Given the description of an element on the screen output the (x, y) to click on. 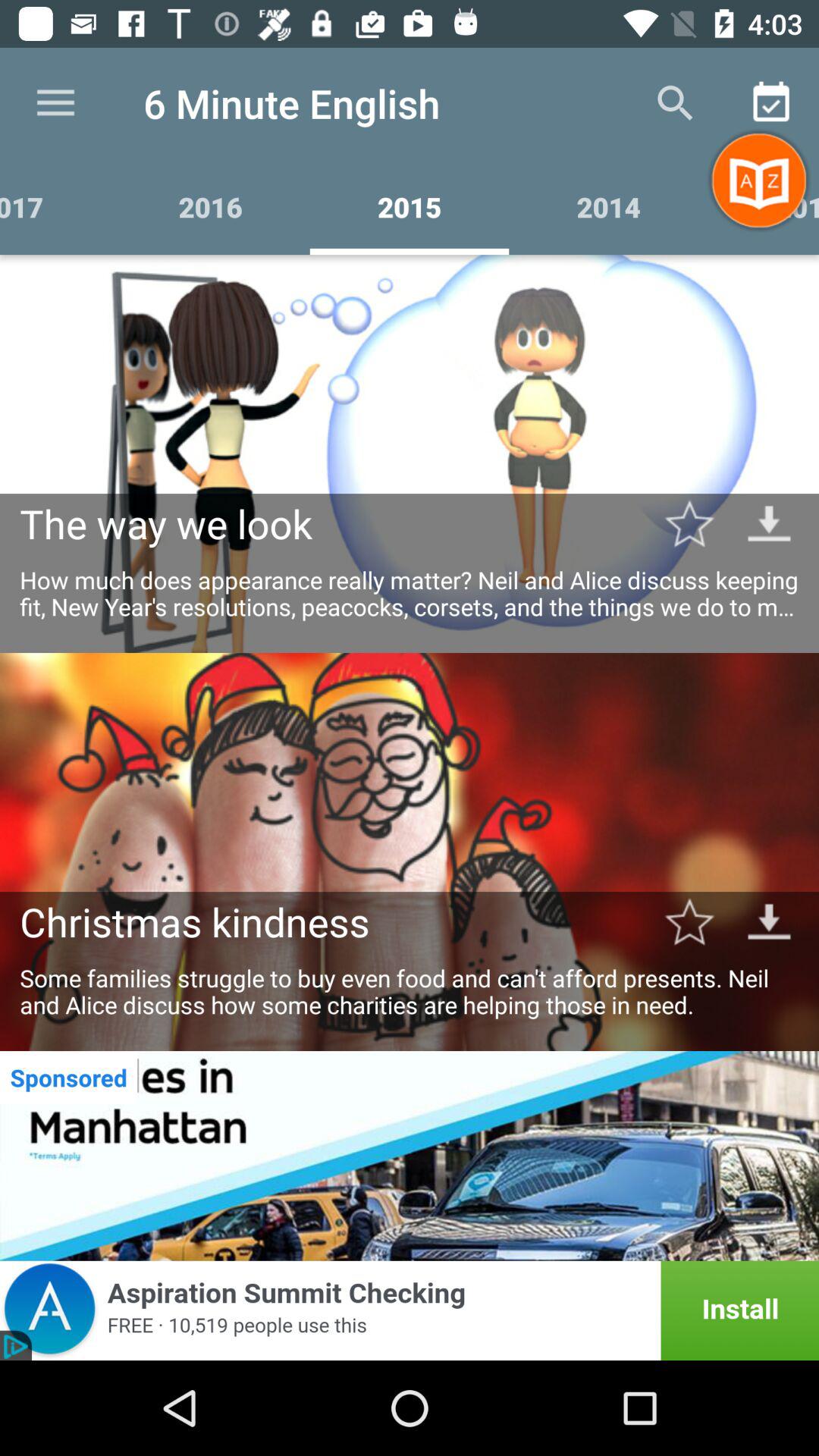
visit sponsor 's page (409, 1155)
